Given the description of an element on the screen output the (x, y) to click on. 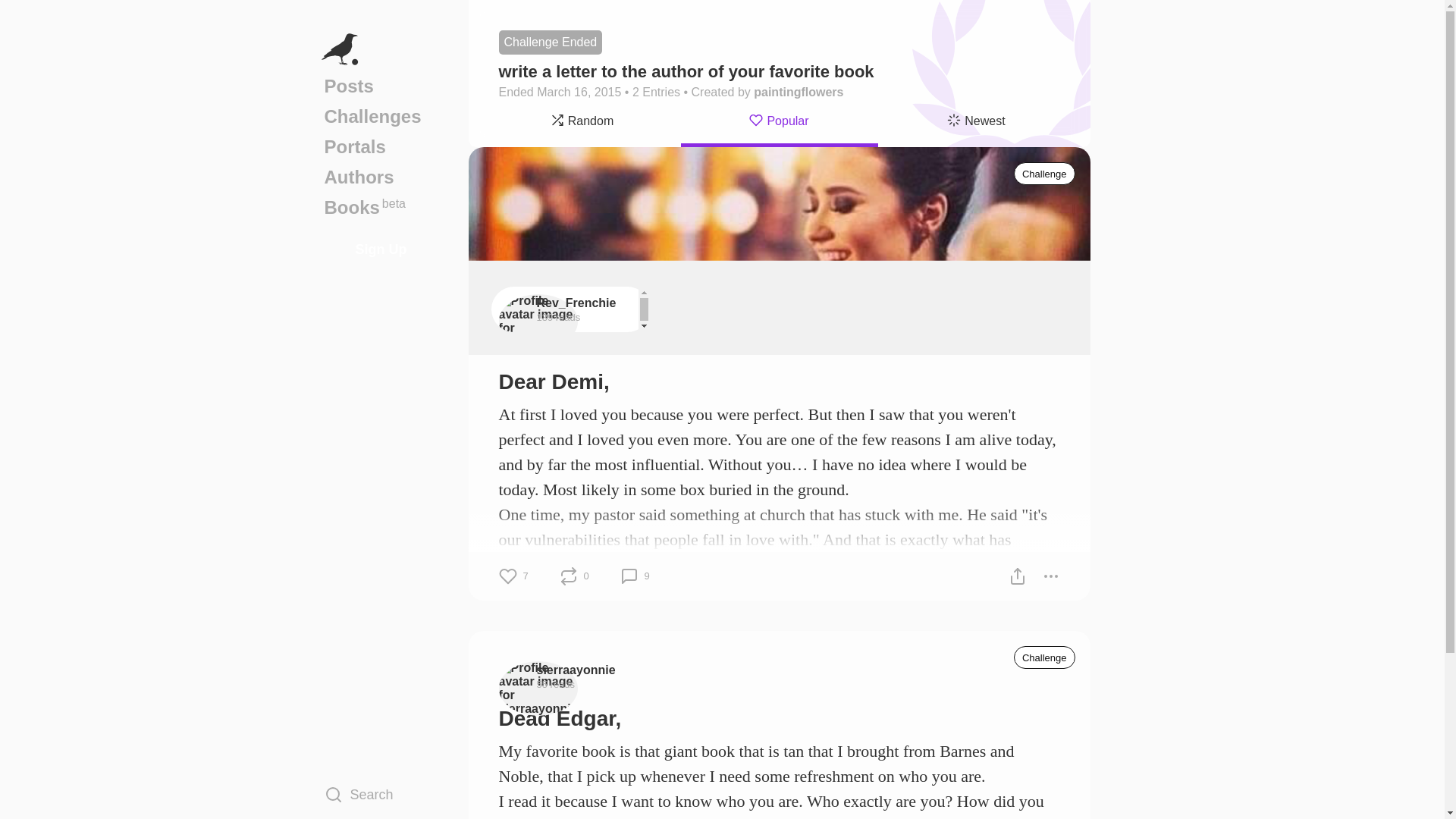
Authors (381, 177)
paintingflowers (798, 91)
Newest (976, 123)
sierraayonnie (576, 669)
Portals (381, 146)
Challenges (381, 207)
Challenge (381, 116)
Posts (1044, 657)
Challenge (381, 86)
